Given the description of an element on the screen output the (x, y) to click on. 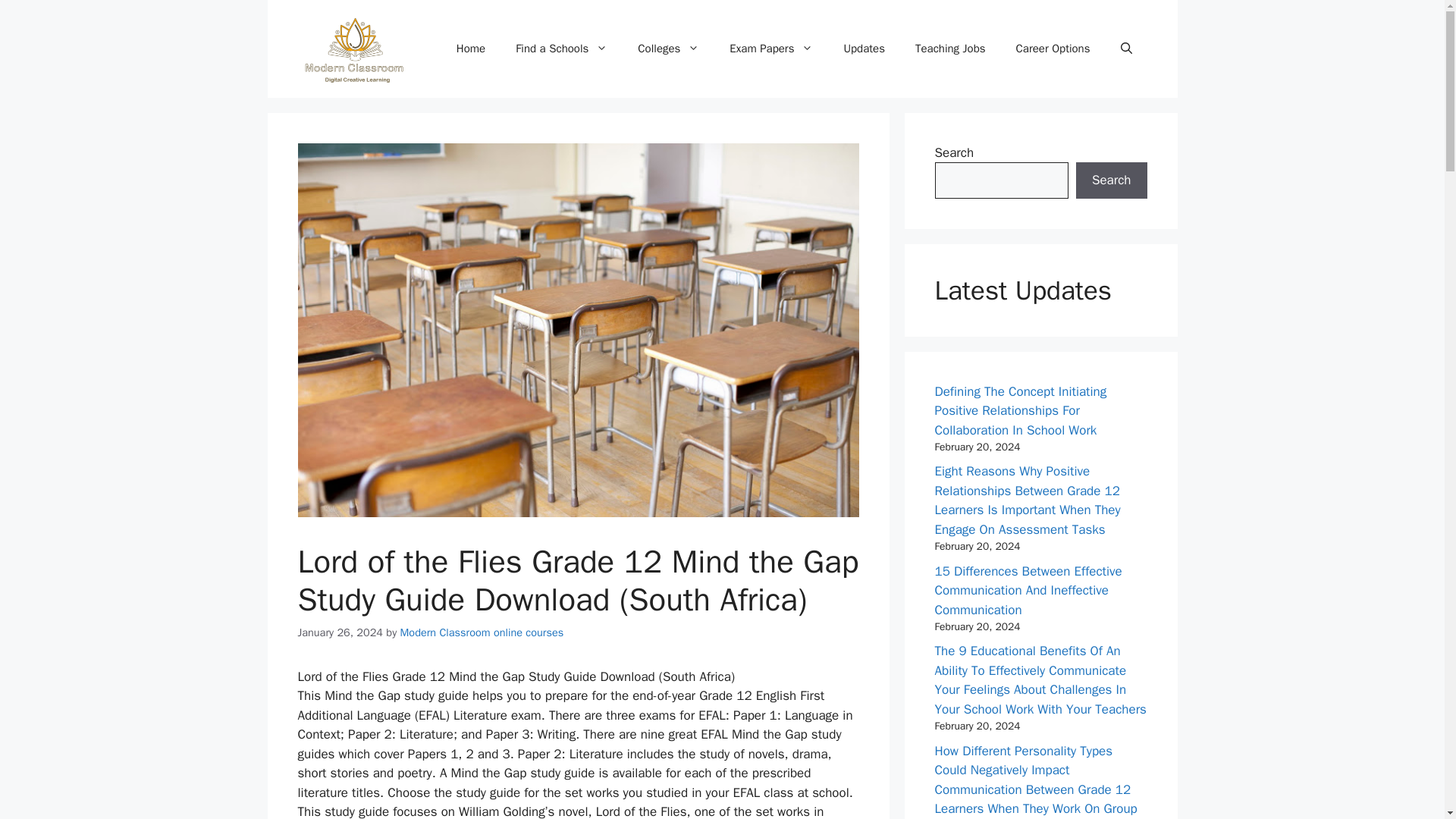
Exam Papers (771, 48)
Colleges (668, 48)
View all posts by Modern Classroom online courses (482, 632)
Home (470, 48)
Find a Schools (561, 48)
